Given the description of an element on the screen output the (x, y) to click on. 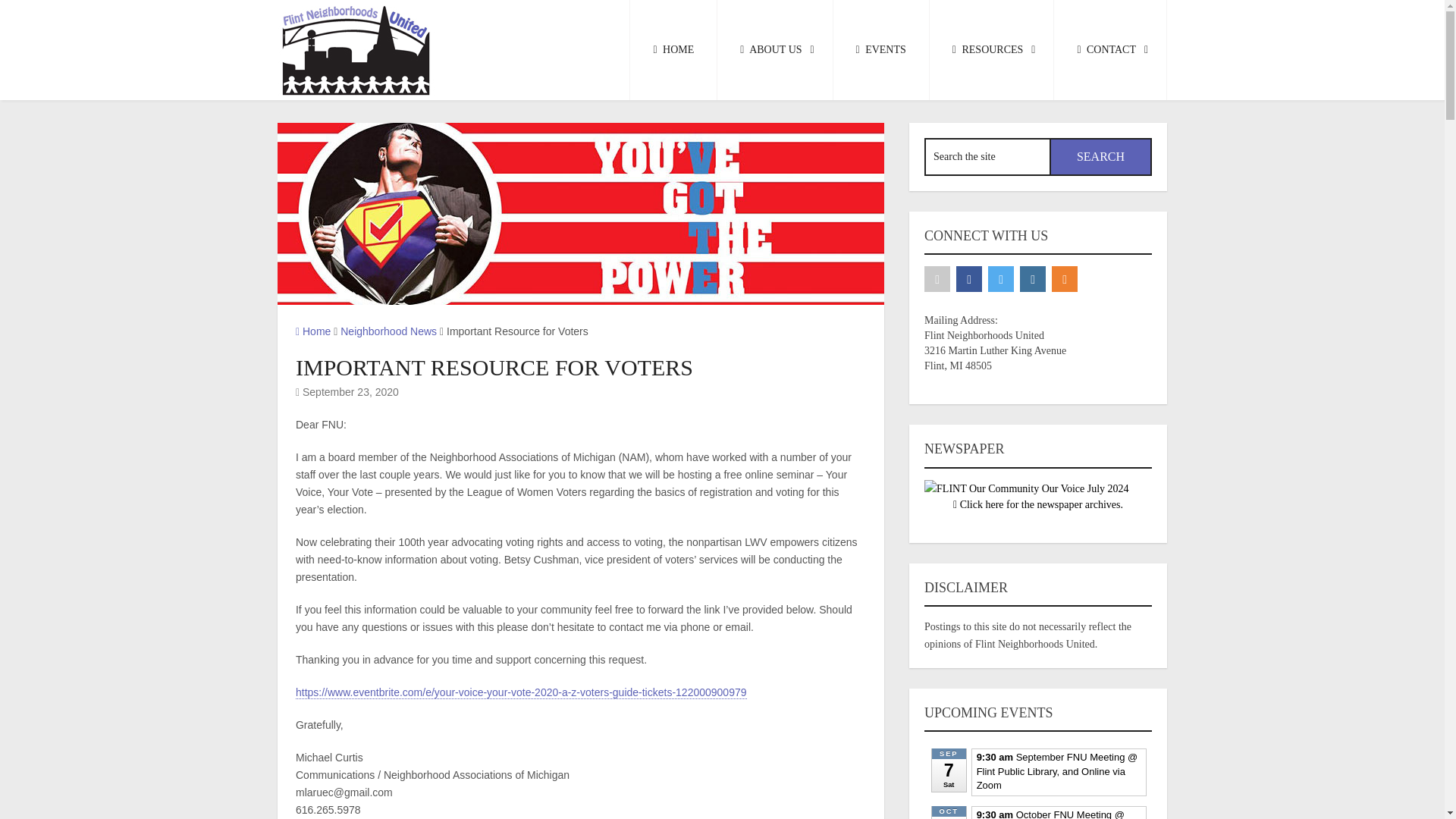
RESOURCES (992, 49)
Important Resource for Voters (580, 213)
Email (937, 278)
Facebook (968, 278)
EVENTS (881, 49)
Search (1100, 157)
 Home (312, 331)
Twitter (1000, 278)
Search (1100, 157)
ABOUT US (774, 49)
Neighborhood News (388, 331)
CONTACT (1110, 49)
